Given the description of an element on the screen output the (x, y) to click on. 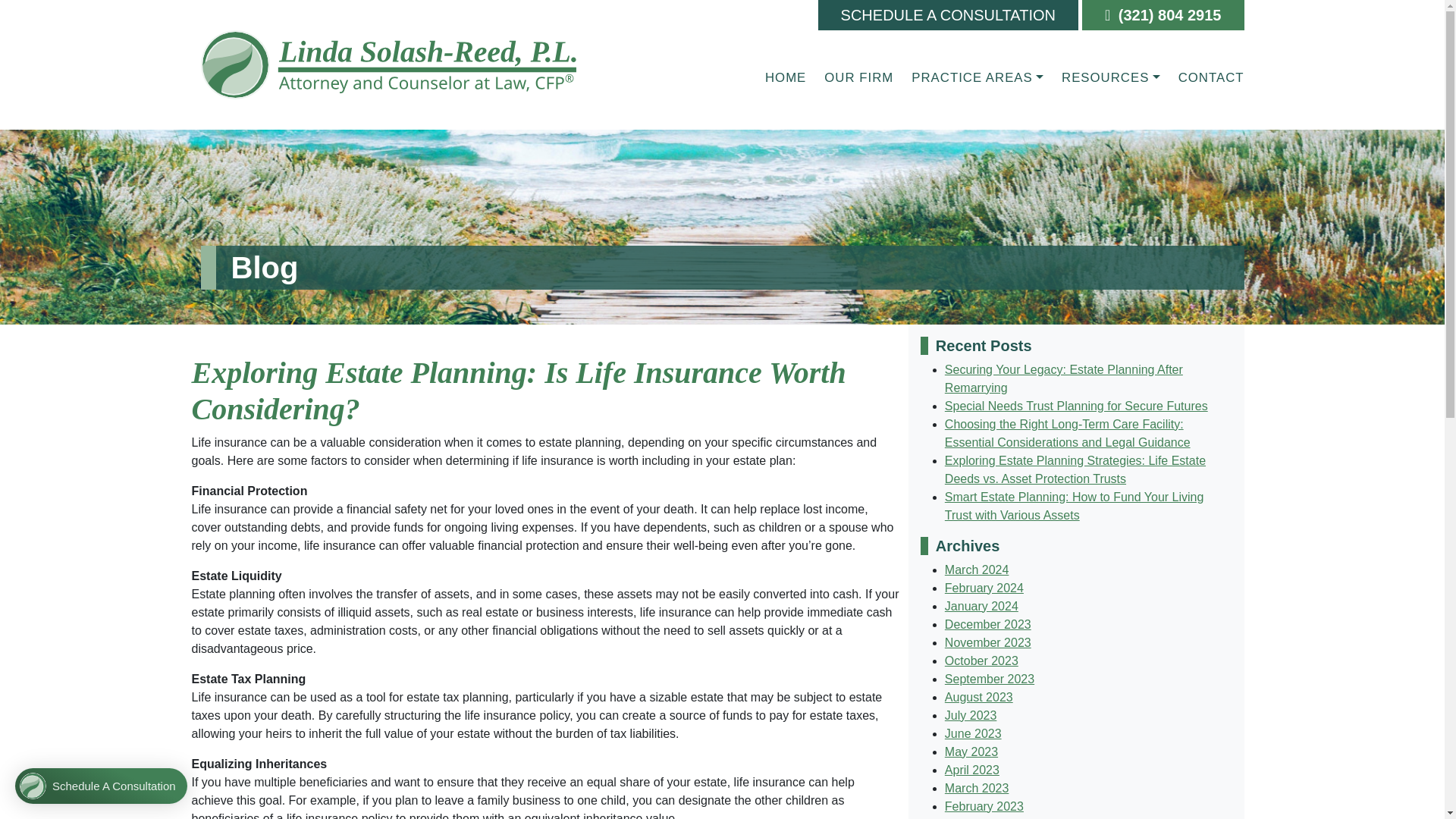
December 2023 (987, 624)
Securing Your Legacy: Estate Planning After Remarrying (1063, 378)
February 2024 (983, 587)
RESOURCES (1110, 77)
CONTACT (1206, 77)
November 2023 (987, 642)
March 2024 (976, 569)
SCHEDULE A CONSULTATION (948, 15)
August 2023 (978, 697)
July 2023 (970, 715)
June 2023 (972, 733)
OUR FIRM (858, 77)
September 2023 (988, 678)
